Given the description of an element on the screen output the (x, y) to click on. 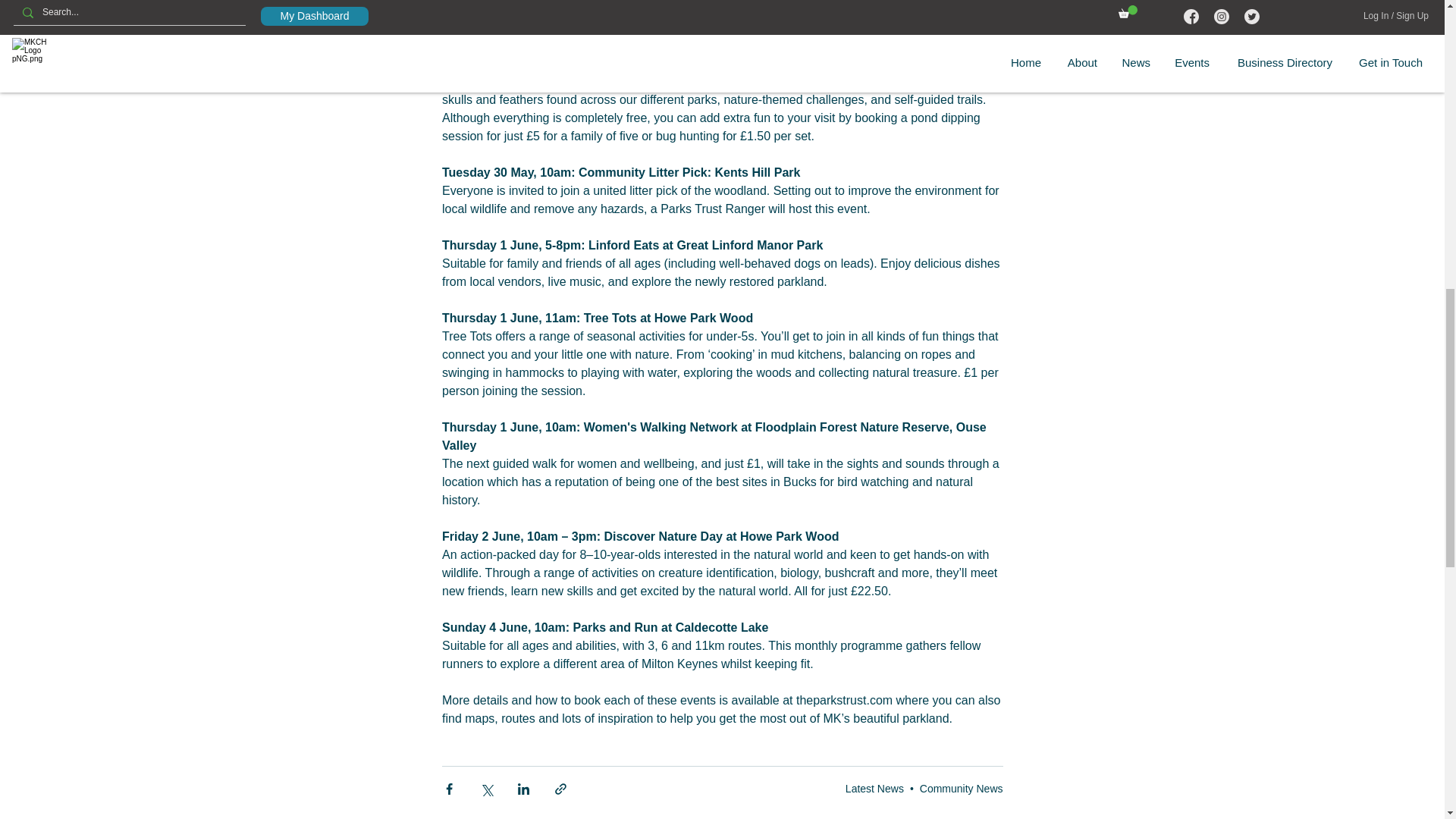
Community News (961, 788)
Latest News (874, 788)
